Given the description of an element on the screen output the (x, y) to click on. 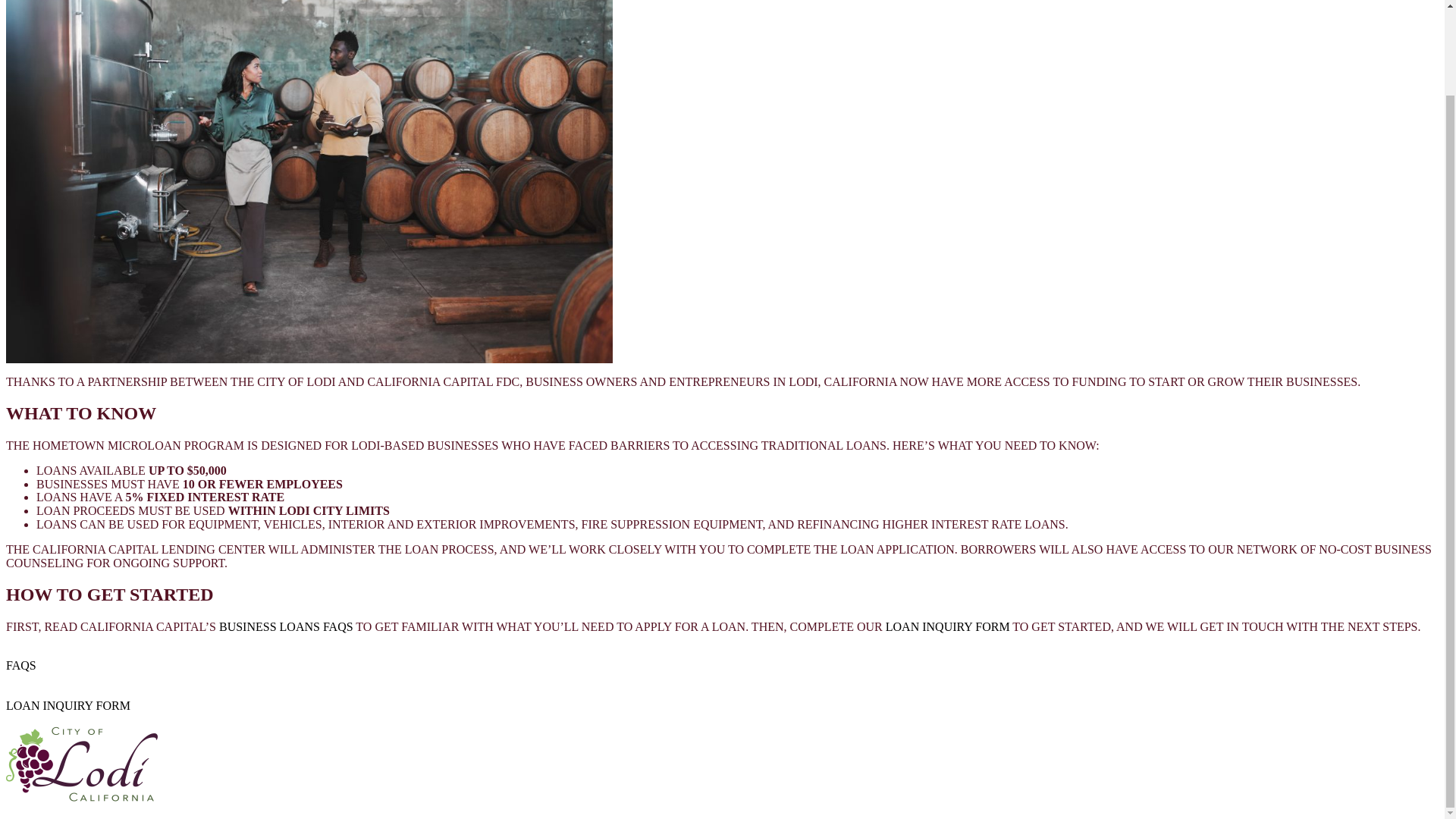
LOAN INQUIRY FORM (68, 712)
BUSINESS LOANS FAQS (286, 626)
FAQS (20, 672)
LOAN INQUIRY FORM (947, 626)
